Given the description of an element on the screen output the (x, y) to click on. 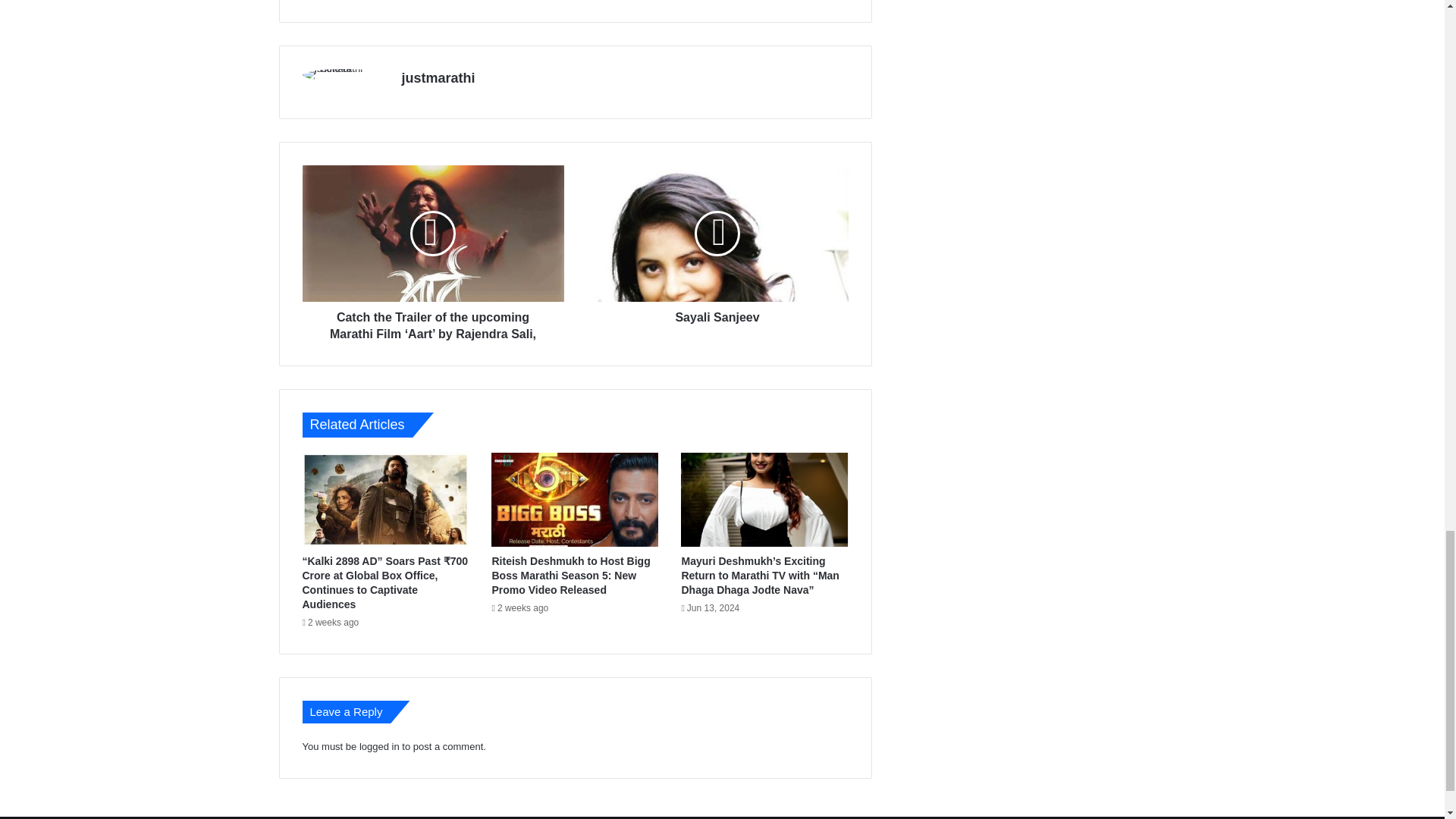
justmarathi (438, 77)
Sayali Sanjeev (717, 313)
Sayali Sanjeev (717, 233)
